Given the description of an element on the screen output the (x, y) to click on. 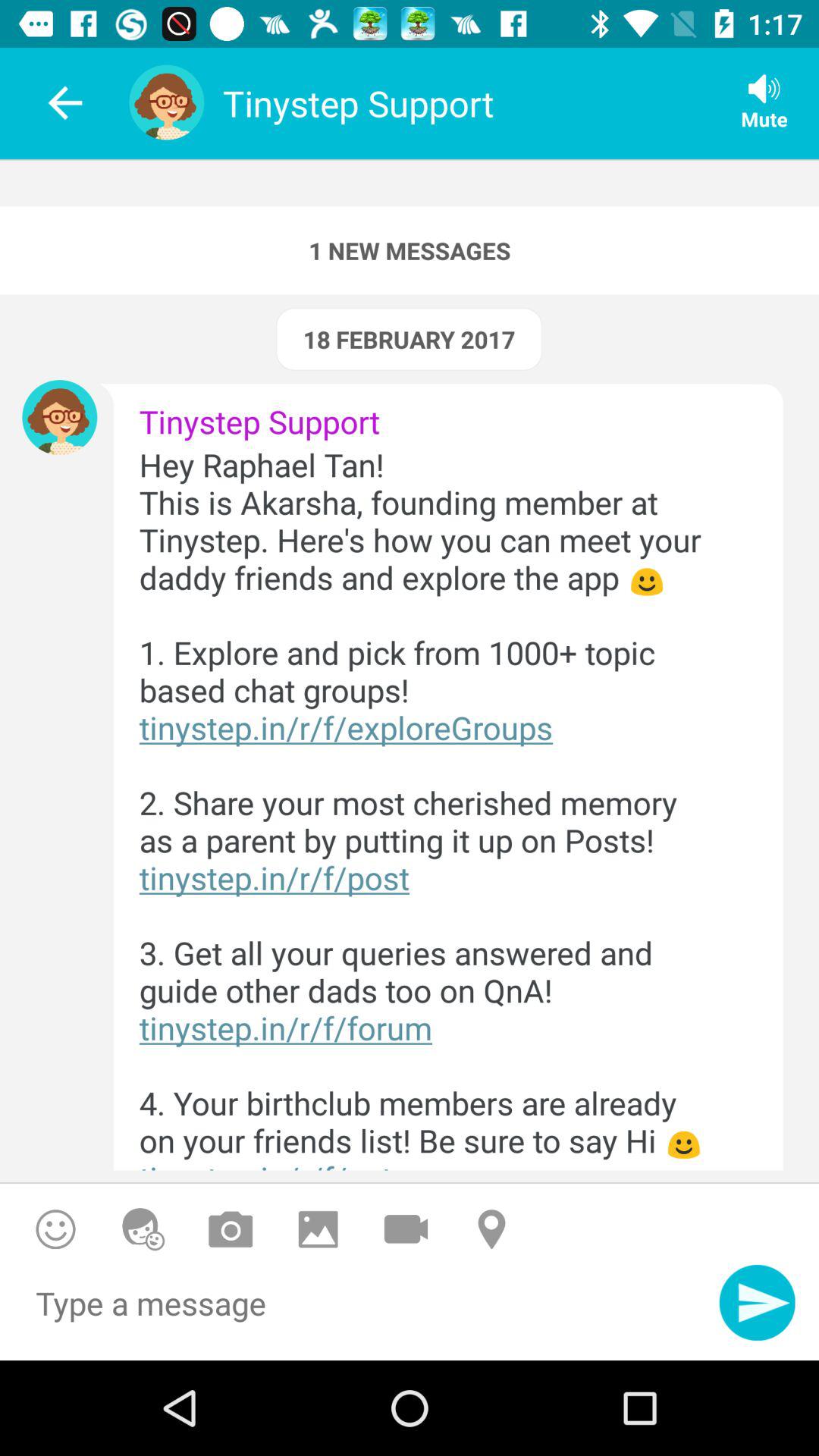
launch the icon below 1 new messages item (409, 339)
